Given the description of an element on the screen output the (x, y) to click on. 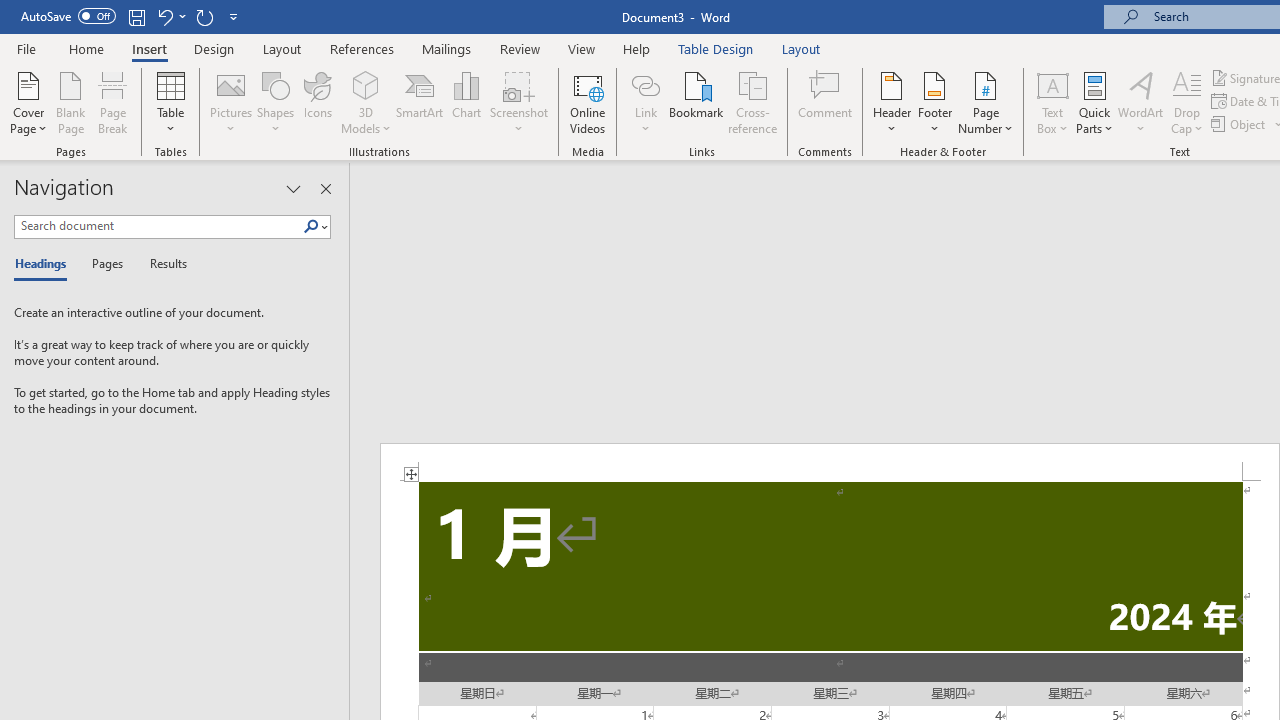
Design (214, 48)
Table (170, 102)
AutoSave (68, 16)
Quick Parts (1094, 102)
View (582, 48)
Footer (934, 102)
Page Break (113, 102)
Insert (149, 48)
Search document (157, 226)
Undo Increase Indent (164, 15)
Drop Cap (1187, 102)
Page Number (986, 102)
Chart... (466, 102)
